Given the description of an element on the screen output the (x, y) to click on. 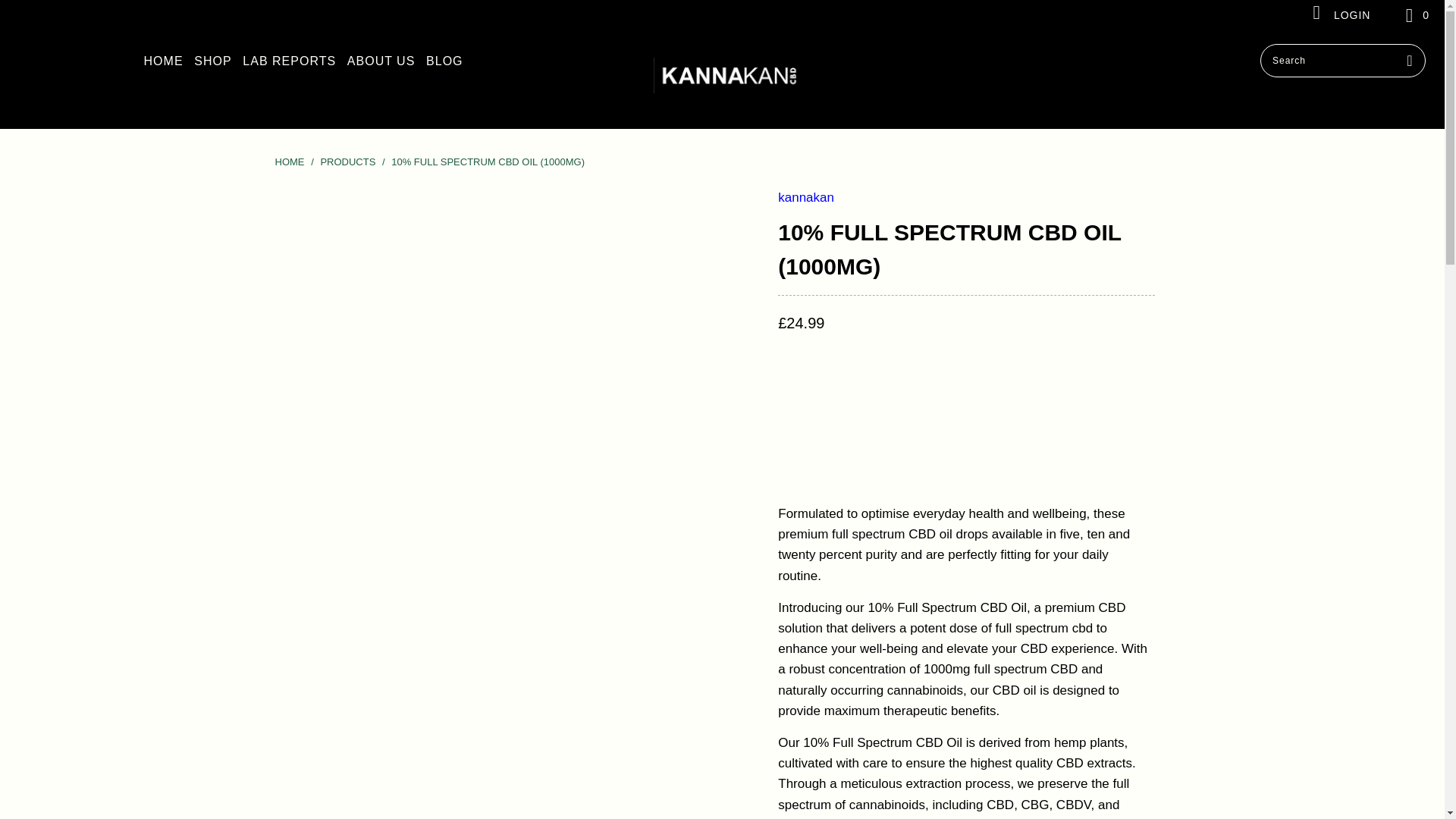
ABOUT US (380, 61)
My Account  (1339, 15)
kannakan (289, 161)
kannakan (729, 79)
kannakan (805, 197)
Products (349, 161)
LAB REPORTS (289, 61)
PRODUCTS (349, 161)
BLOG (444, 61)
kannakan (805, 197)
